Given the description of an element on the screen output the (x, y) to click on. 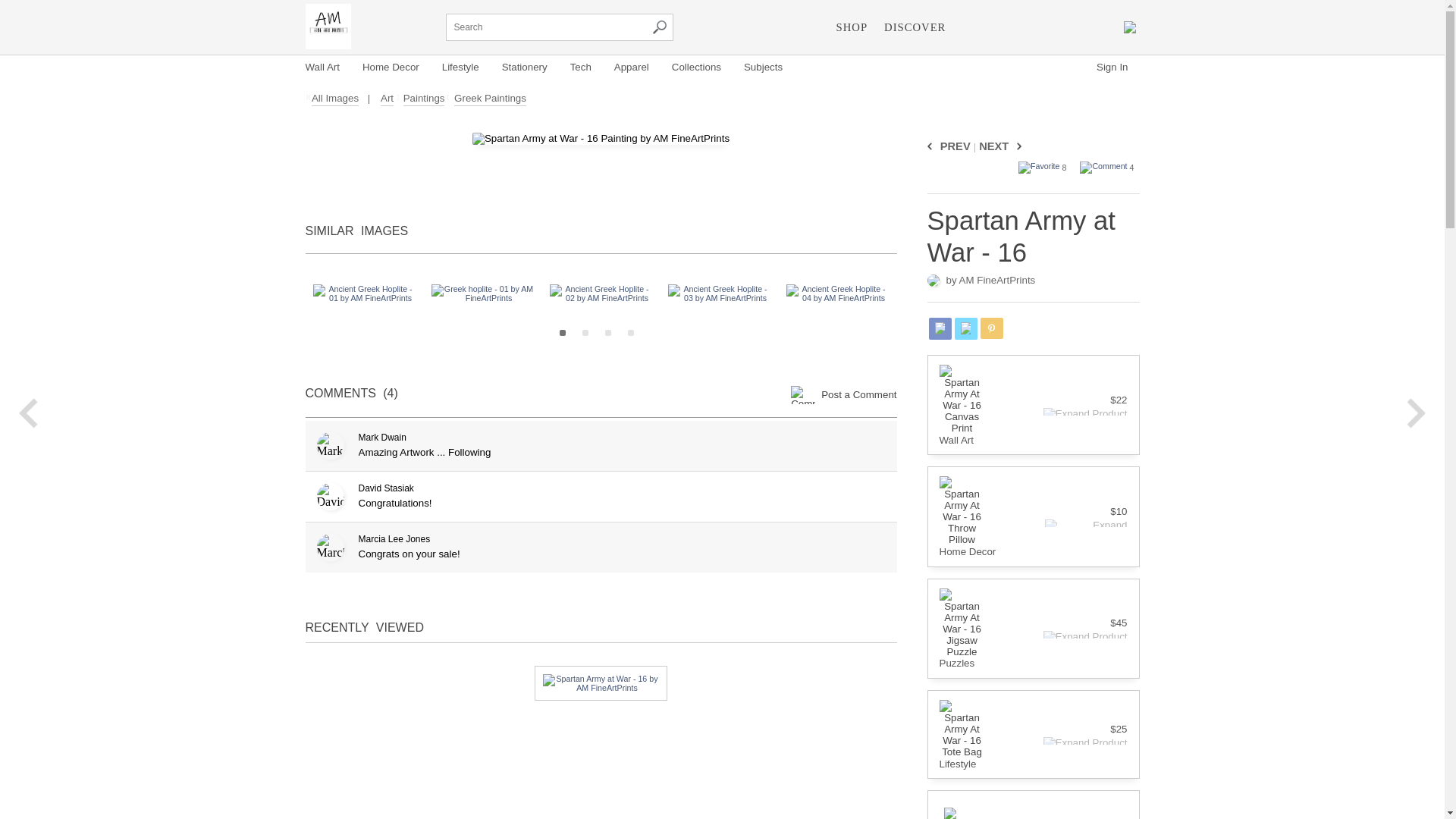
Comment (1103, 167)
DISCOVER (914, 27)
Previous Image (931, 145)
SHOP (852, 27)
Spartan Army at War - 16 Painting by AM FineArtPrints (600, 138)
Share Product on Facebook (939, 328)
Search (658, 27)
AM FineArtPrints - Artist Website (327, 26)
Share Product on Twitter (964, 328)
Next Image (1016, 145)
